Given the description of an element on the screen output the (x, y) to click on. 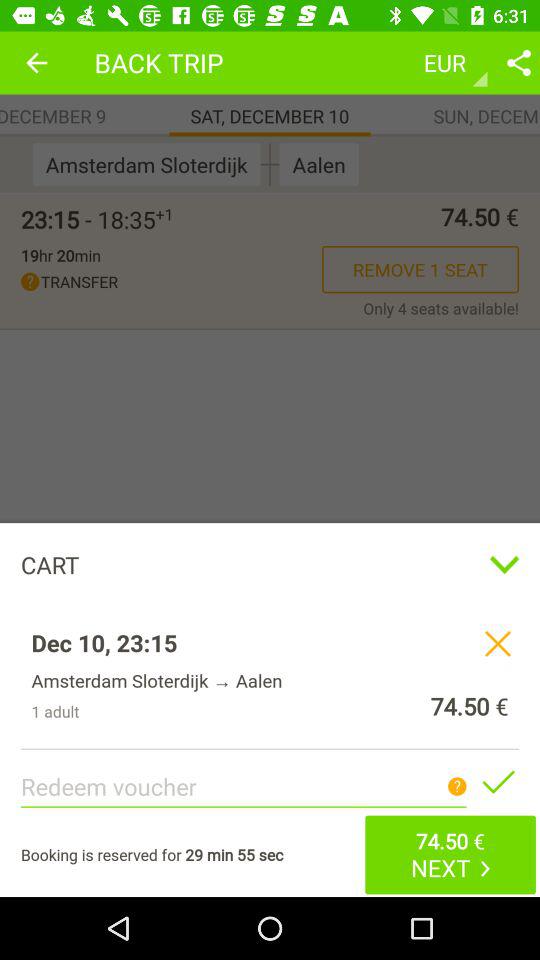
click the item to the left of the remove 1 seat (60, 255)
